Given the description of an element on the screen output the (x, y) to click on. 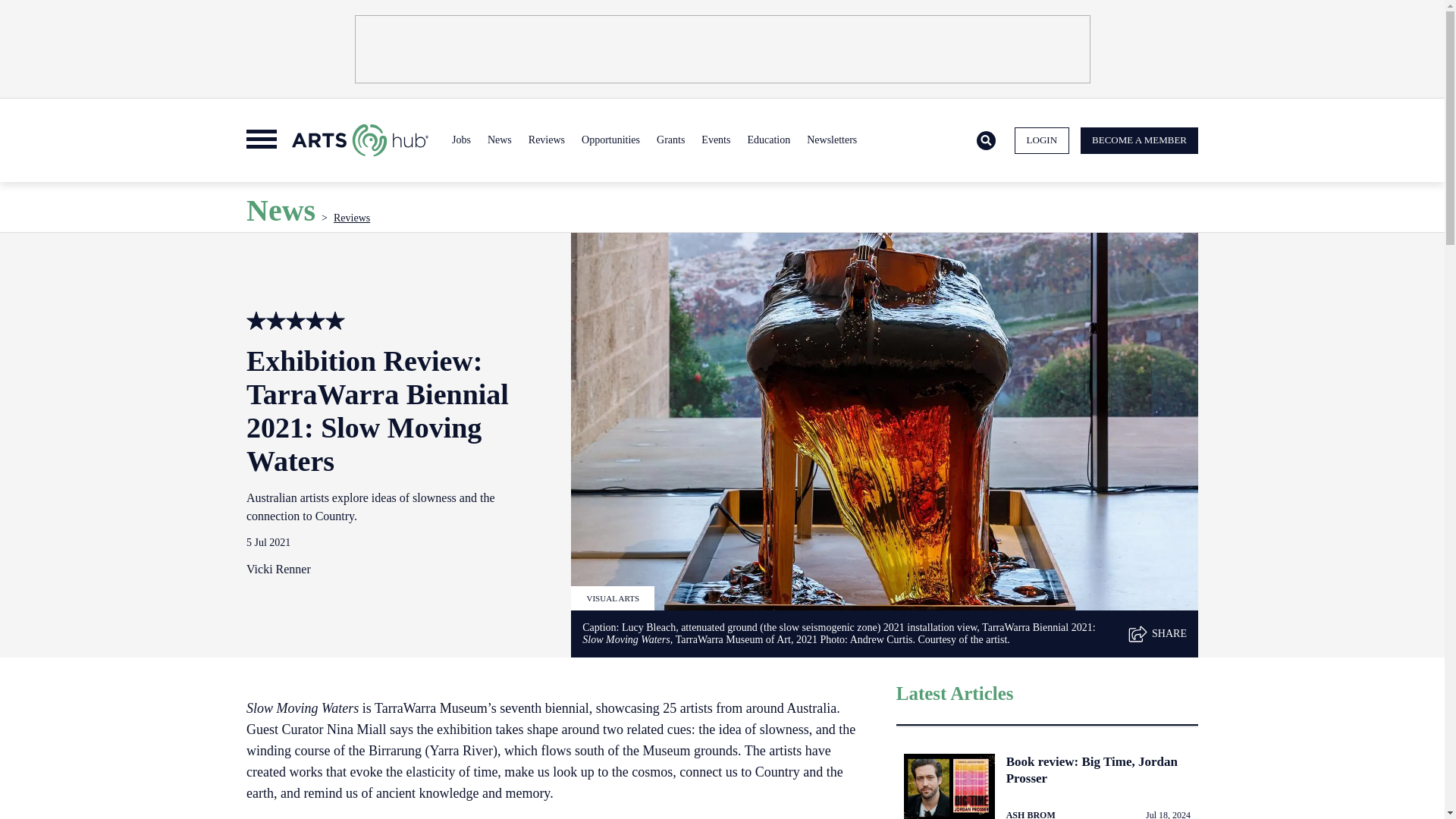
Grants (670, 139)
Search Icon (985, 140)
Events (715, 139)
BECOME A MEMBER (1139, 140)
Jobs (461, 139)
Stars (275, 321)
Stars (314, 321)
Stars (295, 321)
Stars (256, 321)
Opportunities (610, 139)
News (498, 139)
3rd party ad content (722, 49)
Newsletters (832, 139)
Reviews (546, 139)
Education (768, 139)
